Given the description of an element on the screen output the (x, y) to click on. 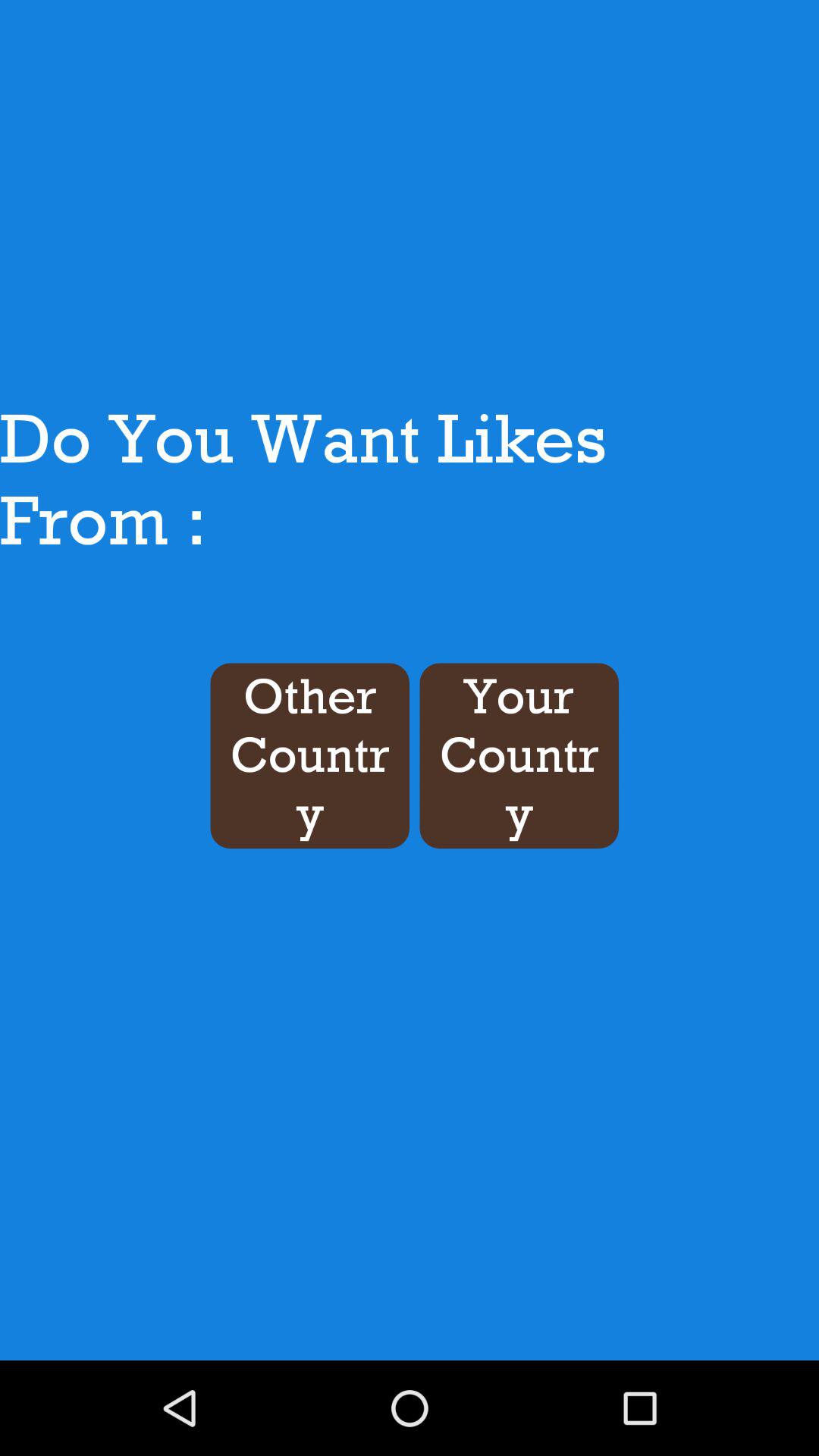
click the button to the left of the your country icon (309, 755)
